Given the description of an element on the screen output the (x, y) to click on. 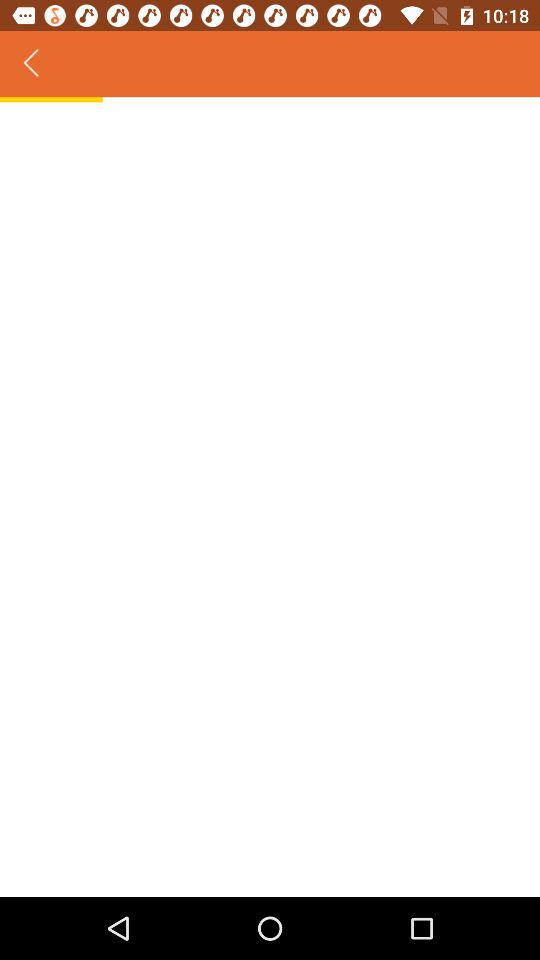
click the icon at the top left corner (32, 64)
